Given the description of an element on the screen output the (x, y) to click on. 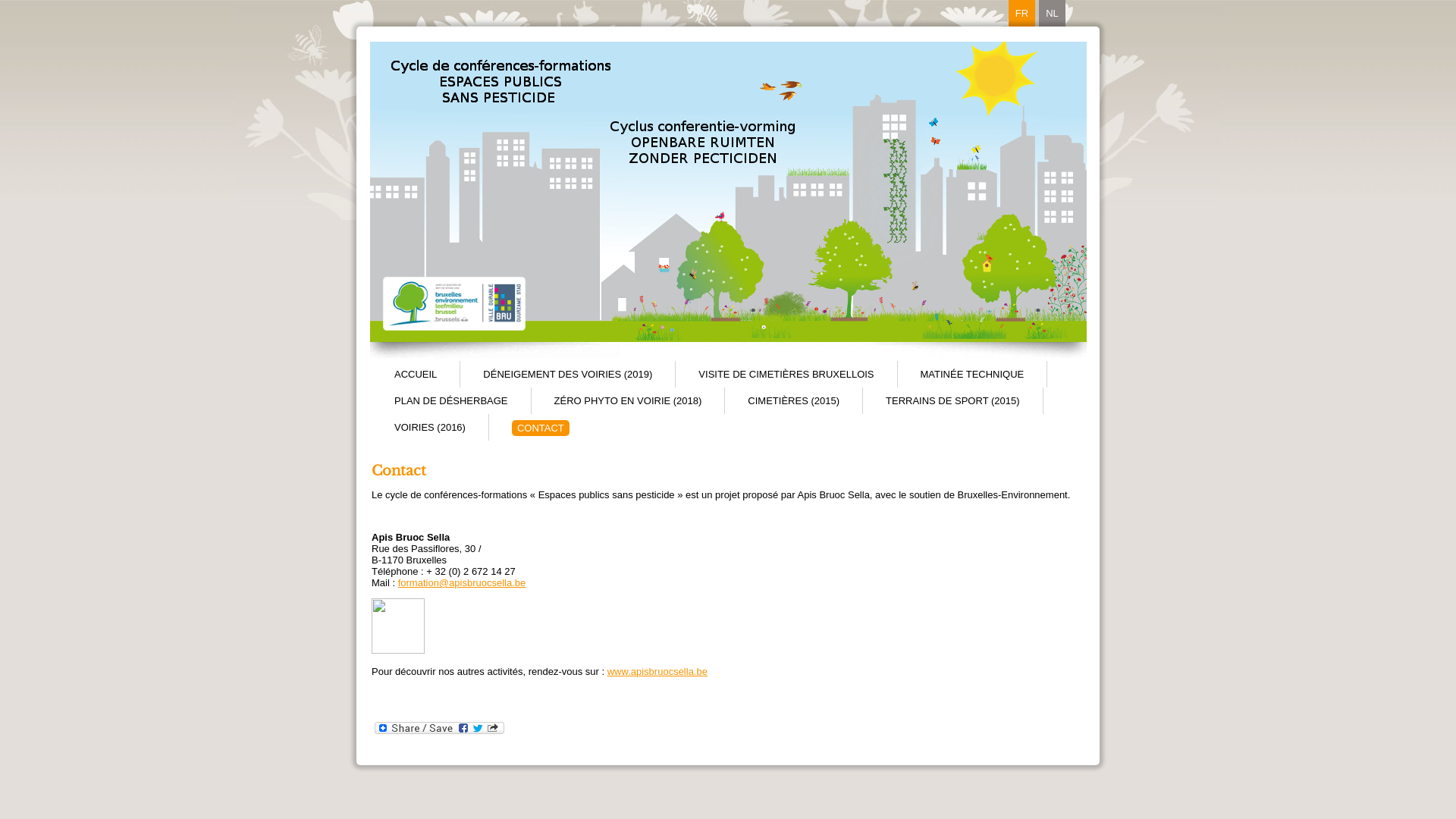
ACCUEIL Element type: text (415, 373)
formation@apisbruocsella.be Element type: text (462, 582)
CONTACT Element type: text (540, 428)
NL Element type: text (1051, 13)
Aller au contenu principal Element type: text (55, 0)
www.apisbruocsella.be Element type: text (657, 671)
TERRAINS DE SPORT (2015) Element type: text (952, 400)
VOIRIES (2016) Element type: text (429, 427)
FR Element type: text (1021, 13)
